Given the description of an element on the screen output the (x, y) to click on. 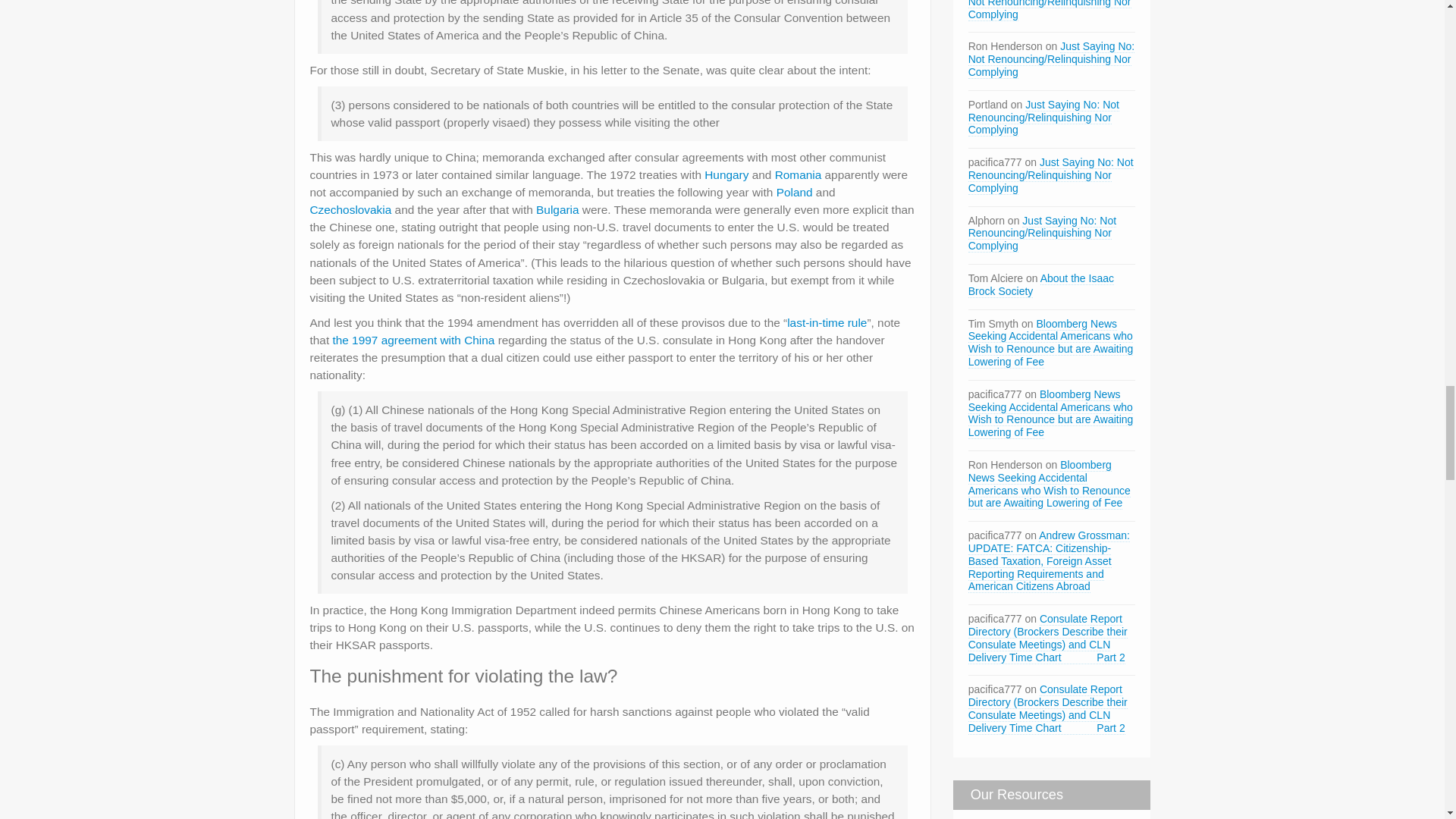
Czechoslovakia (349, 209)
Poland (794, 192)
Hungary (726, 174)
Romania (798, 174)
